Given the description of an element on the screen output the (x, y) to click on. 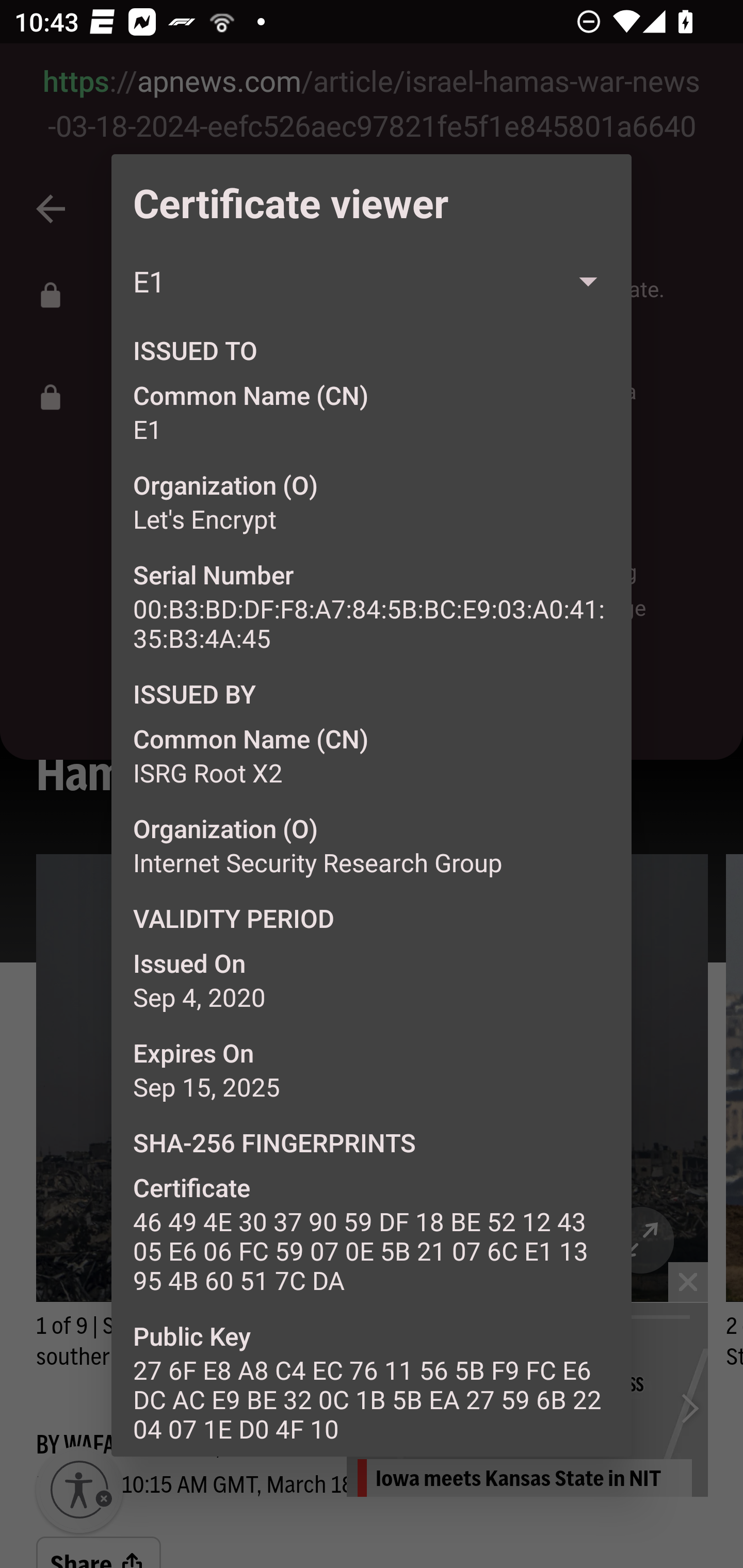
E1 (371, 281)
